Given the description of an element on the screen output the (x, y) to click on. 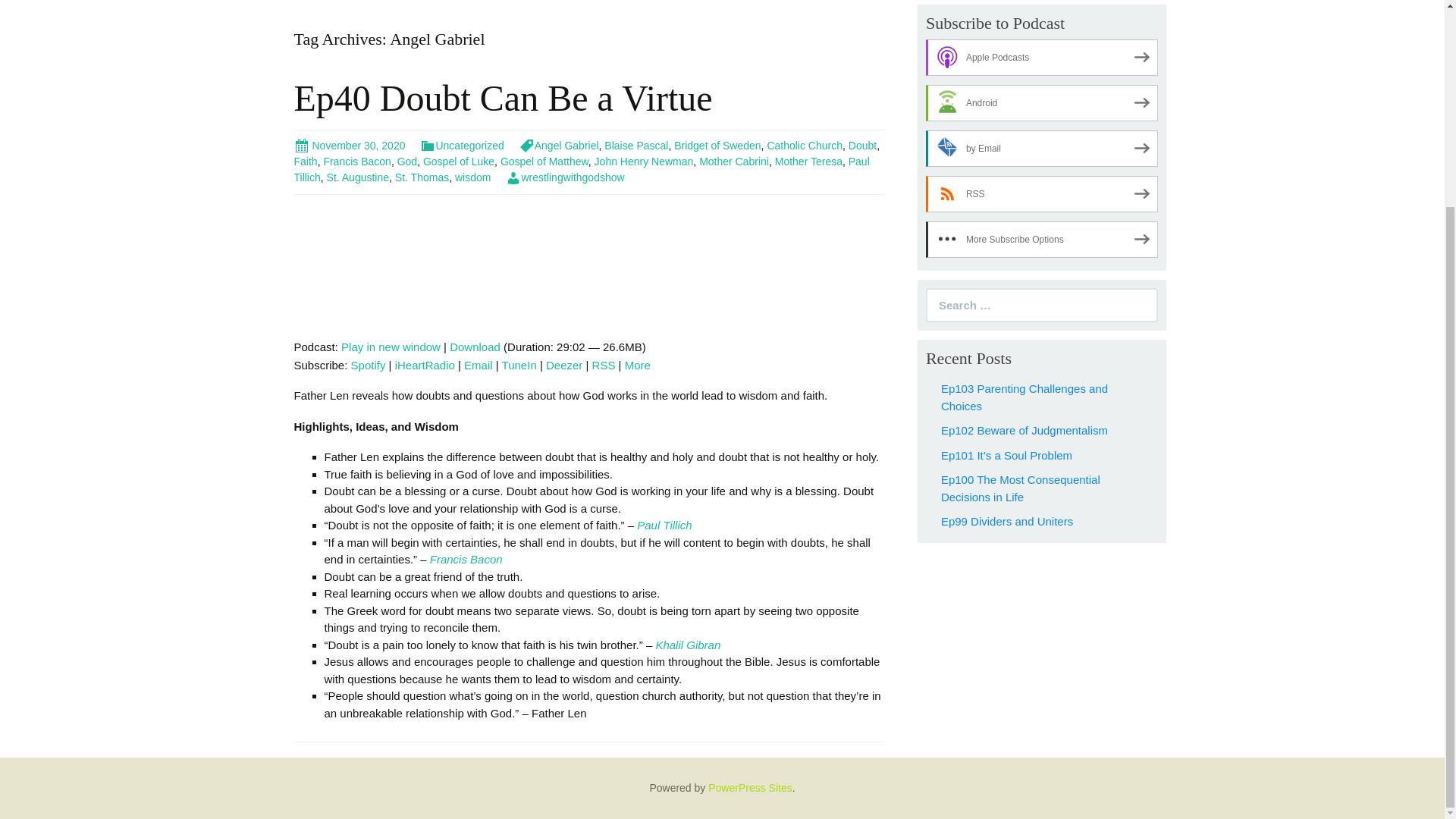
TuneIn (519, 364)
Subscribe on TuneIn (519, 364)
More (637, 364)
Play in new window (390, 346)
Subscribe on Deezer (564, 364)
Blaise Pascal (636, 145)
Bridget of Sweden (717, 145)
Mother Teresa (808, 161)
Subscribe via RSS (603, 364)
Spotify (367, 364)
